Given the description of an element on the screen output the (x, y) to click on. 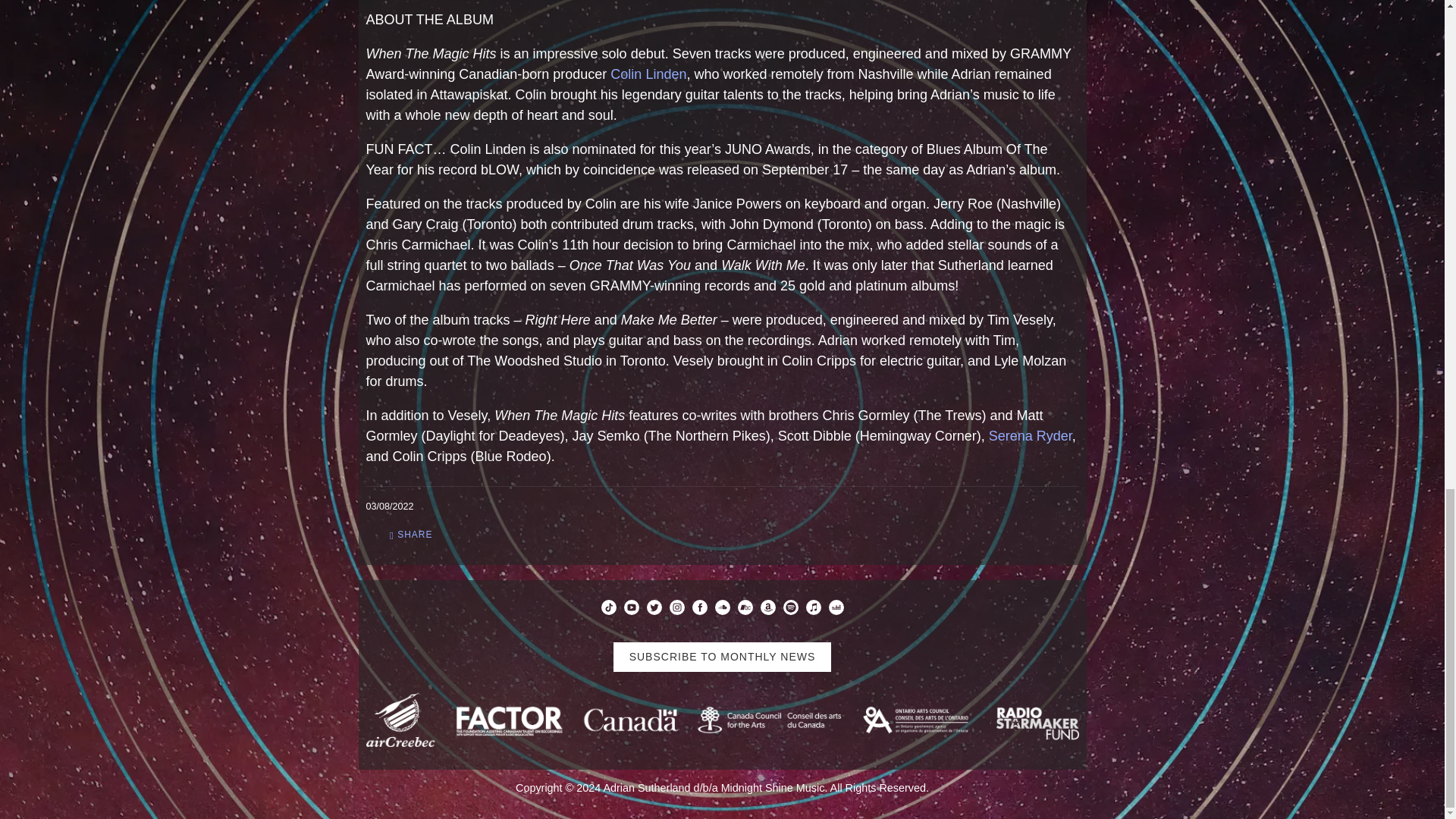
Serena Ryder (1029, 435)
Share First JUNO Nomination A Decade In The Making (411, 534)
March 08, 2022 21:02 (389, 506)
SHARE (411, 534)
Colin Linden (647, 73)
